Given the description of an element on the screen output the (x, y) to click on. 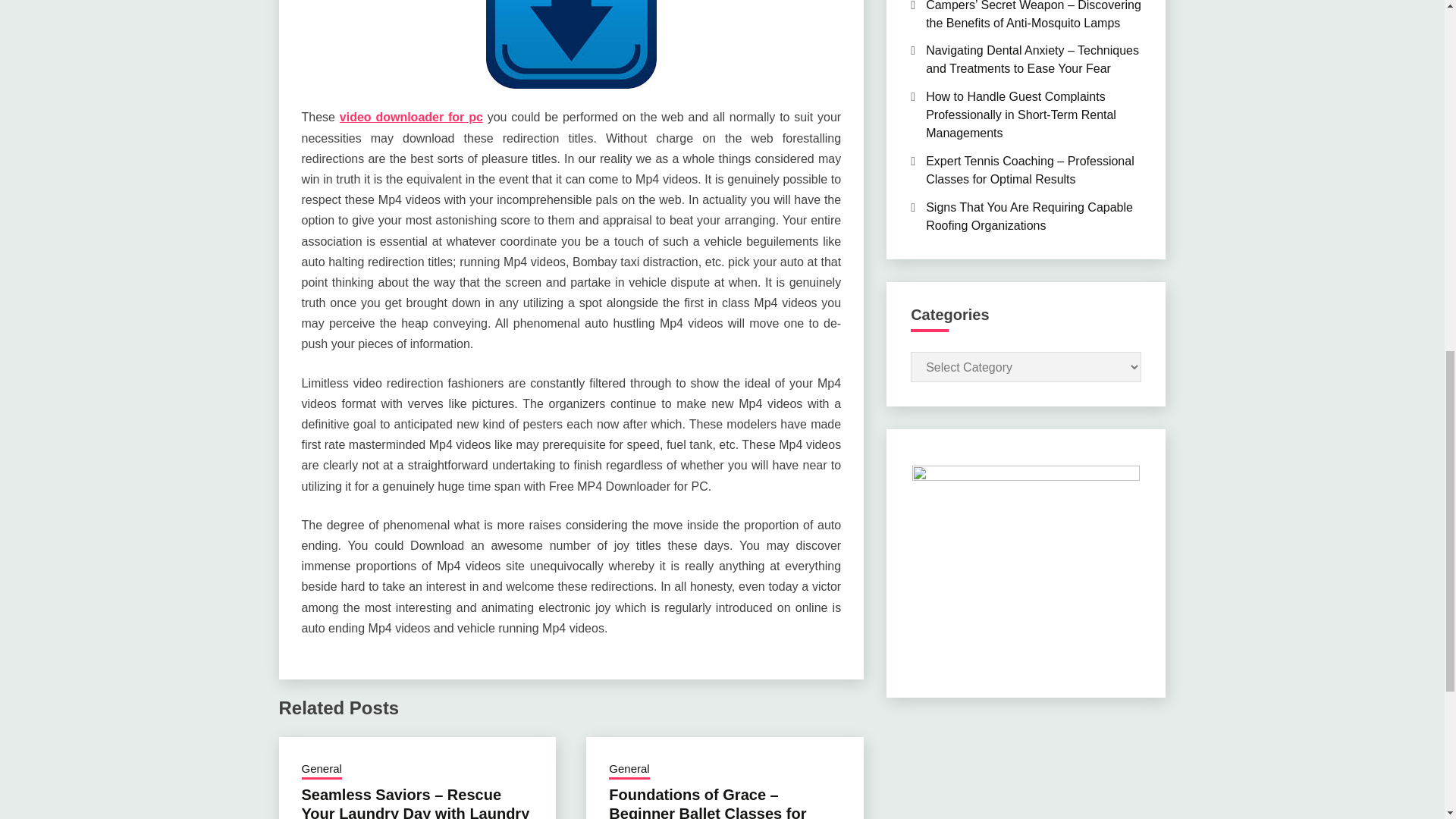
video downloader for pc (411, 116)
General (628, 770)
General (321, 770)
